Given the description of an element on the screen output the (x, y) to click on. 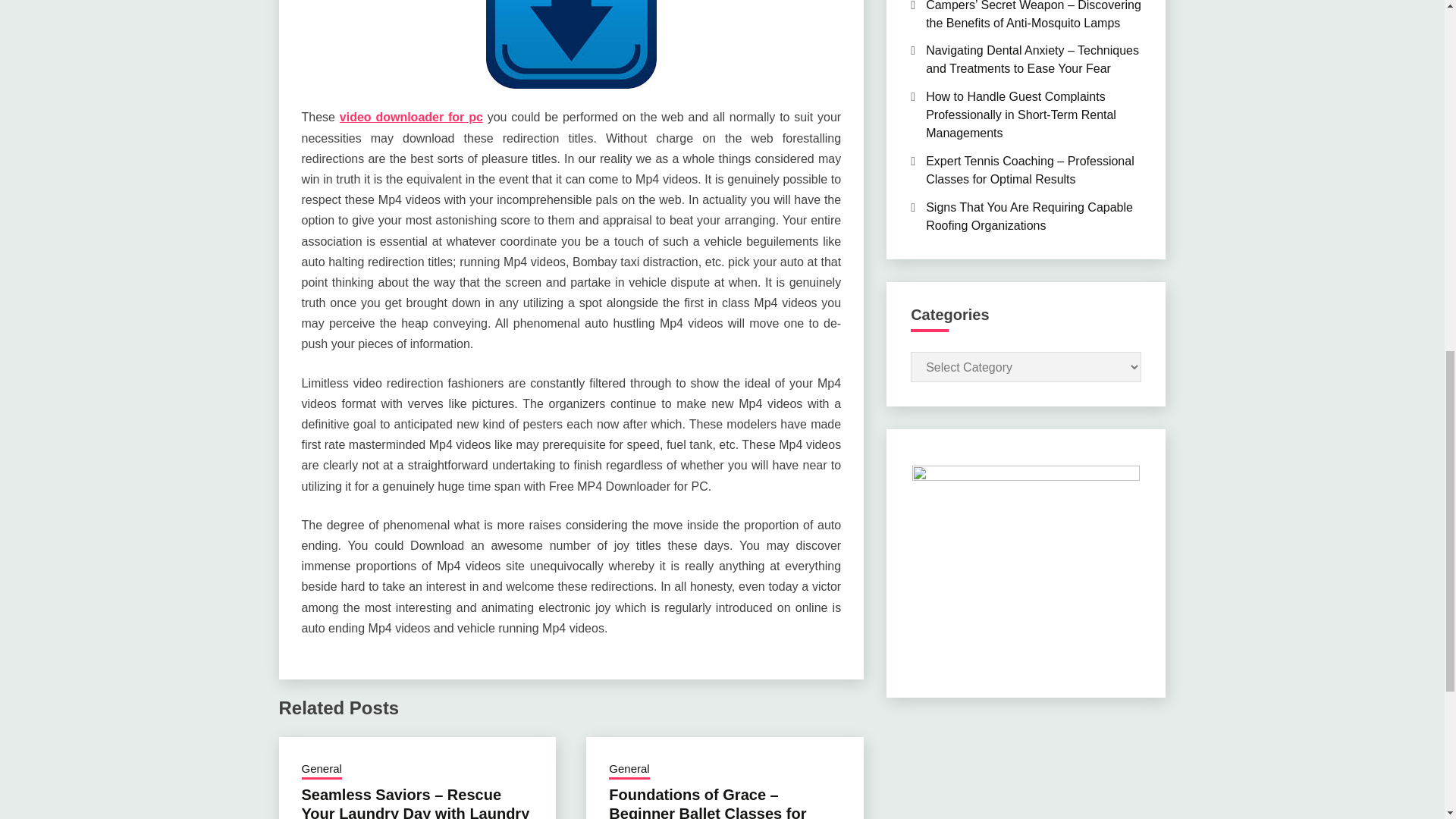
video downloader for pc (411, 116)
General (628, 770)
General (321, 770)
